Given the description of an element on the screen output the (x, y) to click on. 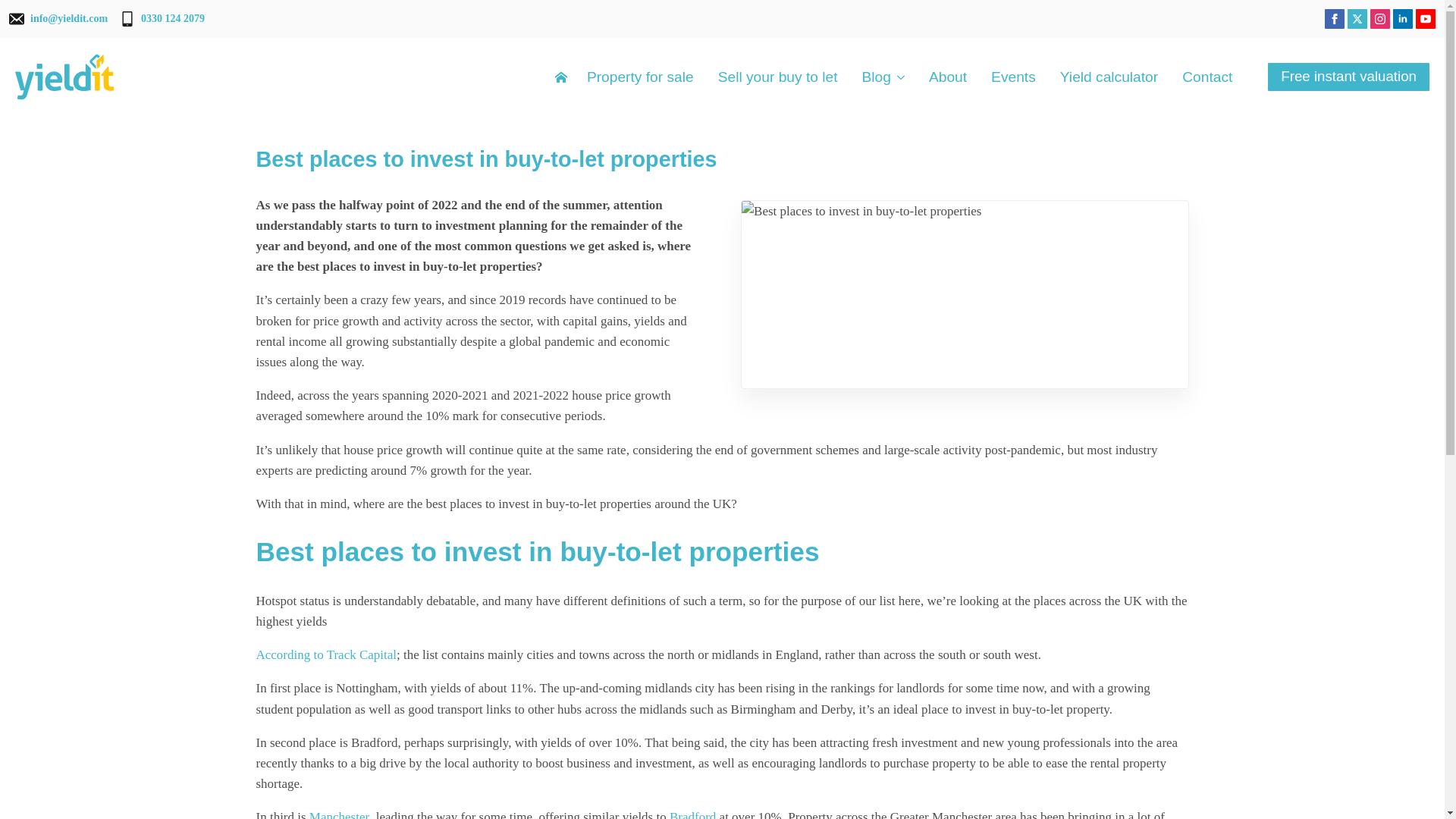
Contact (1206, 76)
Events (1013, 76)
Property for sale (640, 76)
0330 124 2079 (162, 18)
About (947, 76)
Manchester (338, 814)
Free instant valuation (1348, 76)
Bradford (692, 814)
According to Track Capital (326, 654)
Yield calculator (1108, 76)
